Given the description of an element on the screen output the (x, y) to click on. 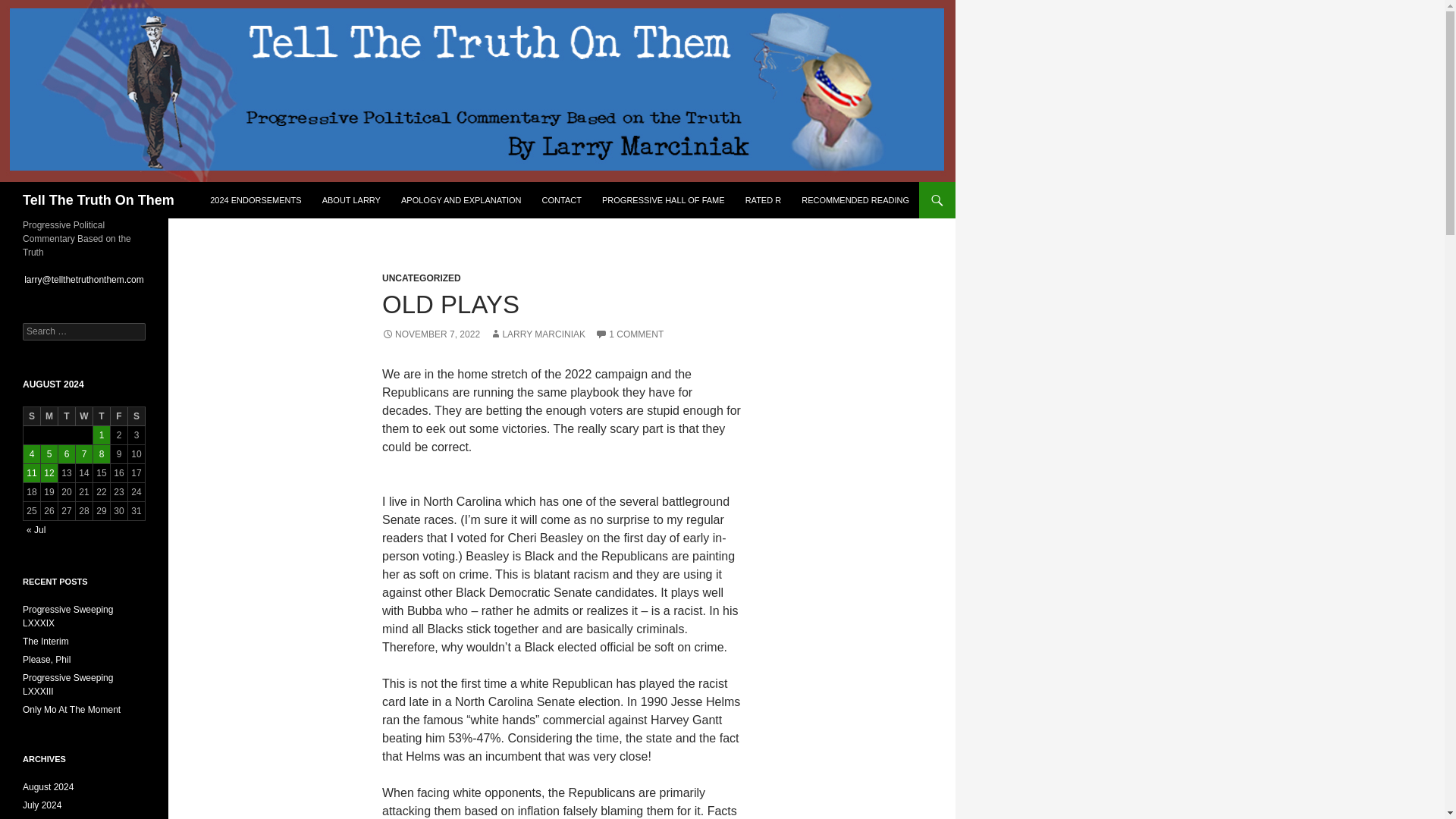
NOVEMBER 7, 2022 (430, 334)
Tuesday (66, 416)
UNCATEGORIZED (421, 277)
RATED R (763, 199)
APOLOGY AND EXPLANATION (461, 199)
1 COMMENT (629, 334)
CONTACT (561, 199)
Sunday (31, 416)
RECOMMENDED READING (855, 199)
Thursday (101, 416)
